Given the description of an element on the screen output the (x, y) to click on. 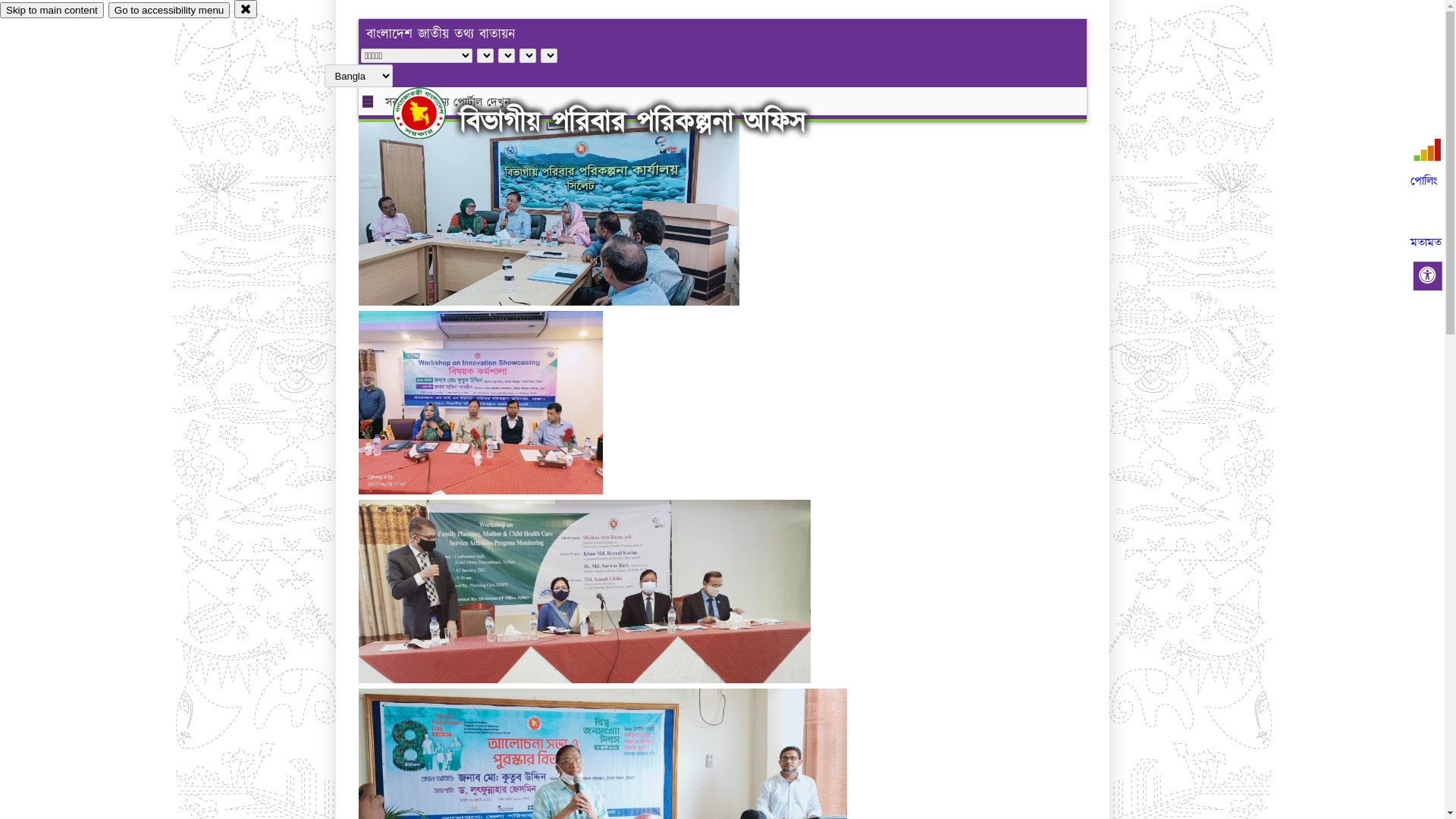
Go to accessibility menu Element type: text (168, 10)
Skip to main content Element type: text (51, 10)

                
             Element type: hover (431, 112)
close Element type: hover (245, 9)
